Given the description of an element on the screen output the (x, y) to click on. 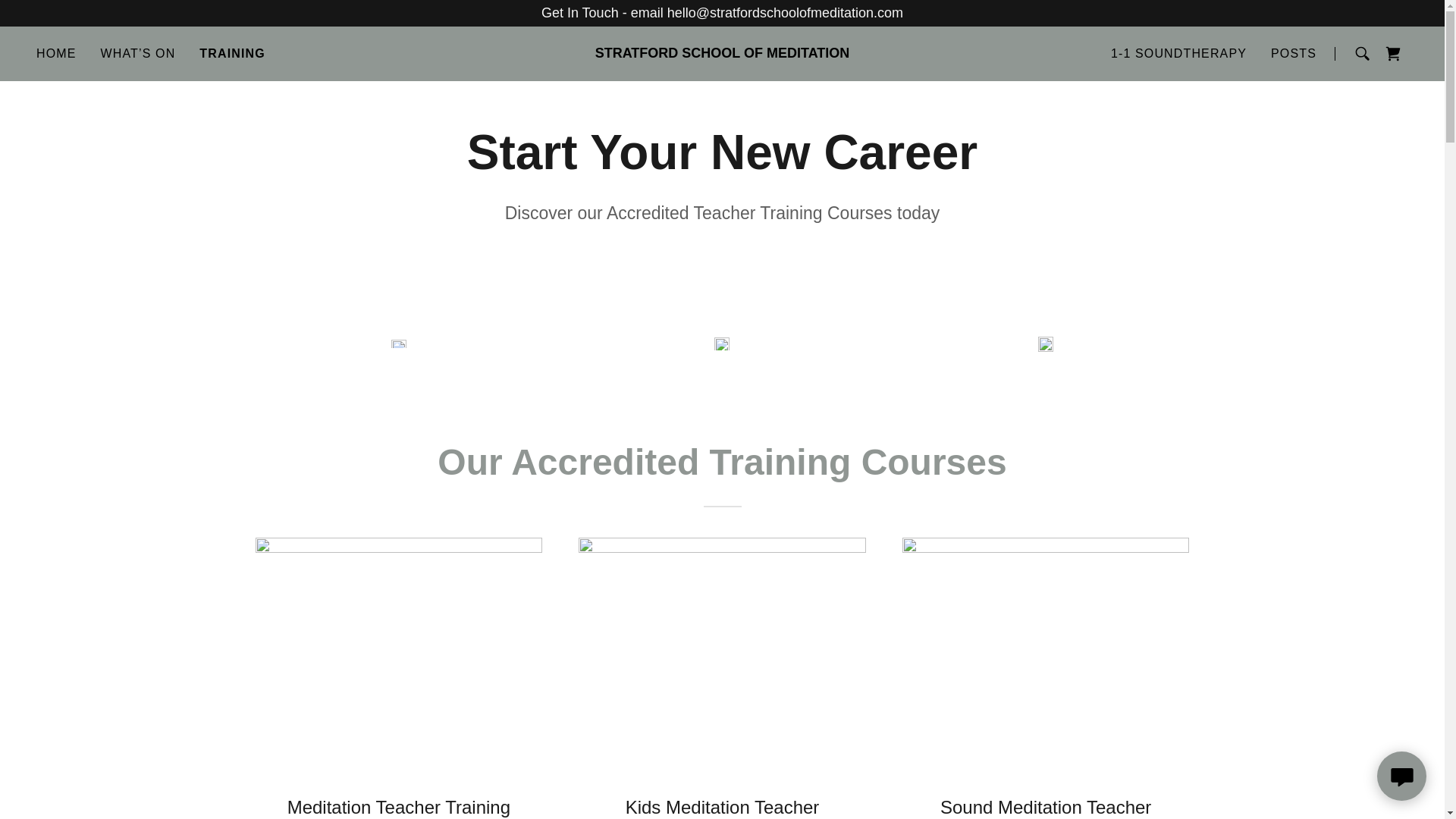
POSTS (1293, 53)
STRATFORD SCHOOL OF MEDITATION (721, 52)
TRAINING (231, 54)
STRATFORD SCHOOL OF MEDITATION (721, 52)
HOME (56, 53)
1-1 SOUNDTHERAPY (1178, 53)
